Given the description of an element on the screen output the (x, y) to click on. 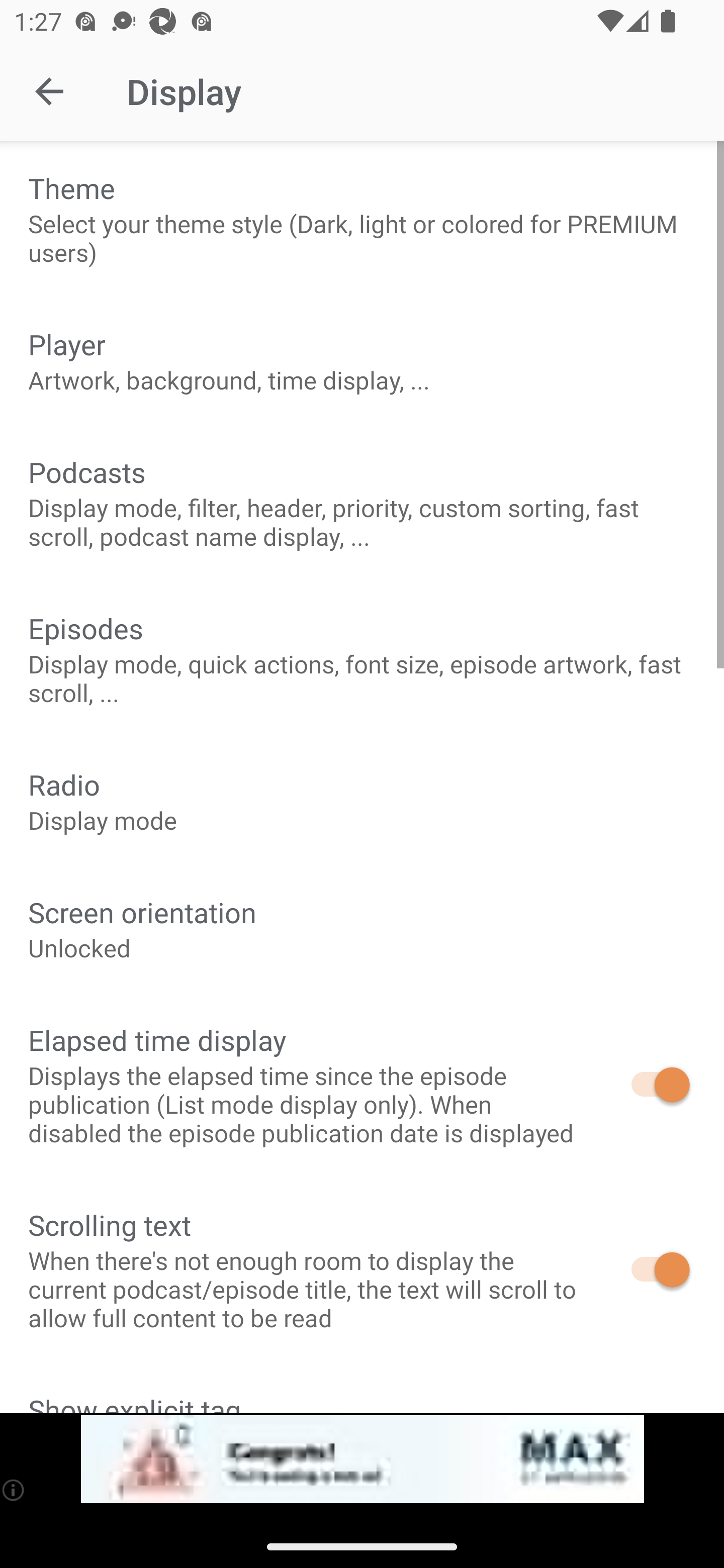
Navigate up (49, 91)
Player Artwork, background, time display, ... (362, 360)
Radio Display mode (362, 800)
Screen orientation Unlocked (362, 928)
app-monetization (362, 1459)
(i) (14, 1489)
